Given the description of an element on the screen output the (x, y) to click on. 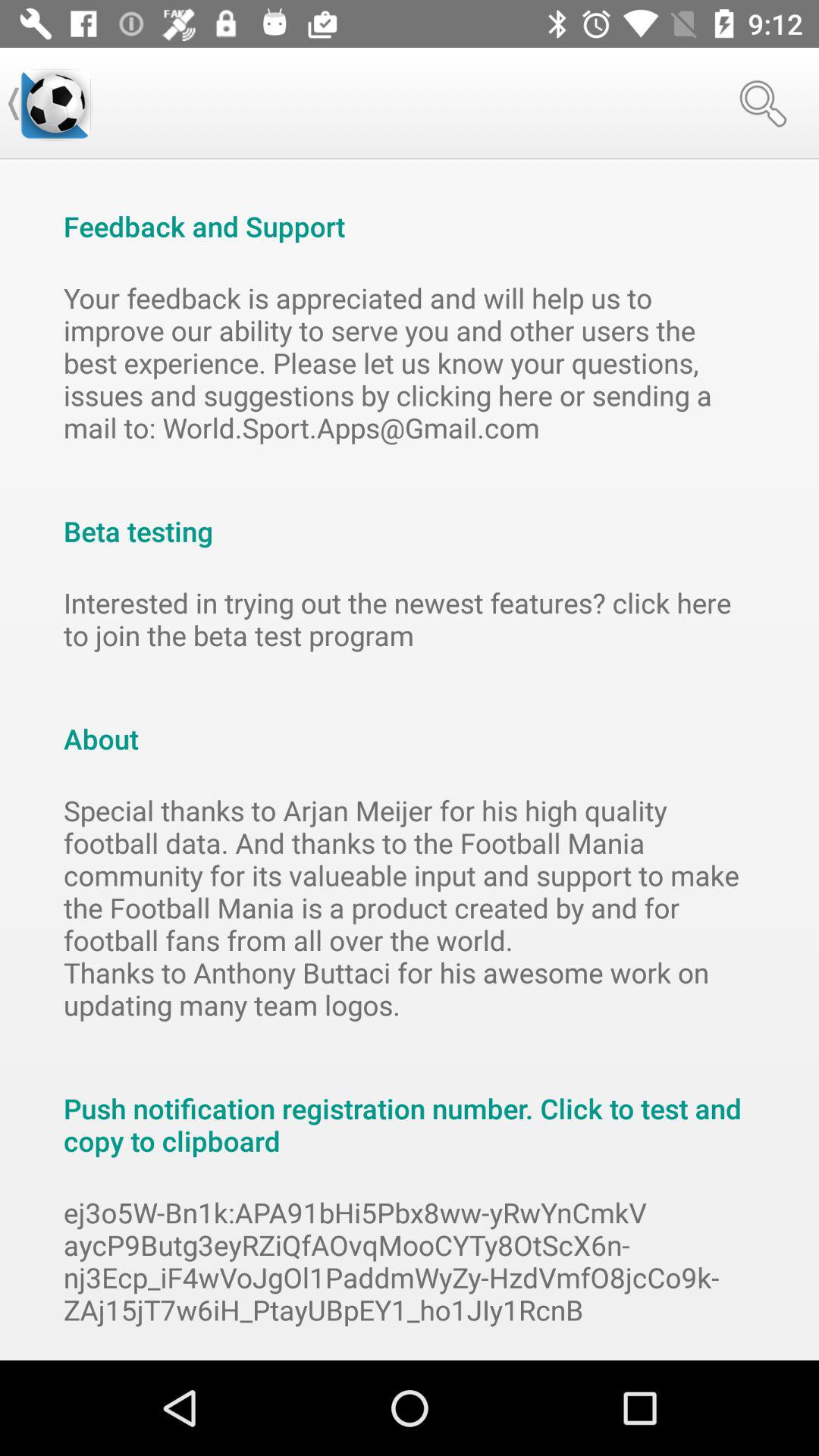
select the item above about (409, 619)
